Given the description of an element on the screen output the (x, y) to click on. 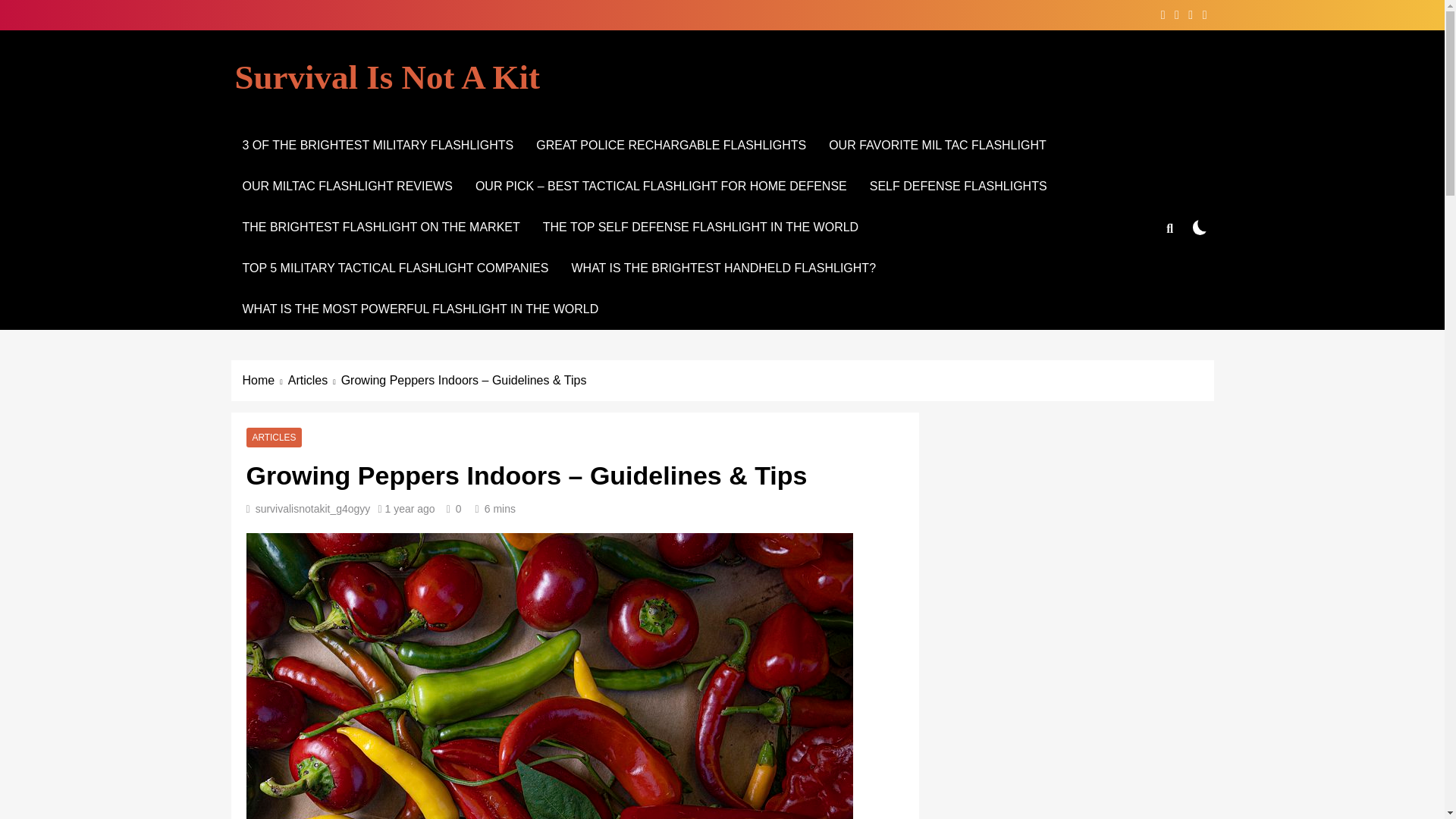
on (1199, 227)
1 year ago (410, 508)
THE BRIGHTEST FLASHLIGHT ON THE MARKET (380, 227)
3 OF THE BRIGHTEST MILITARY FLASHLIGHTS (377, 145)
Articles (314, 380)
WHAT IS THE MOST POWERFUL FLASHLIGHT IN THE WORLD (420, 309)
WHAT IS THE BRIGHTEST HANDHELD FLASHLIGHT? (722, 268)
TOP 5 MILITARY TACTICAL FLASHLIGHT COMPANIES (394, 268)
OUR MILTAC FLASHLIGHT REVIEWS (346, 186)
ARTICLES (273, 437)
